Given the description of an element on the screen output the (x, y) to click on. 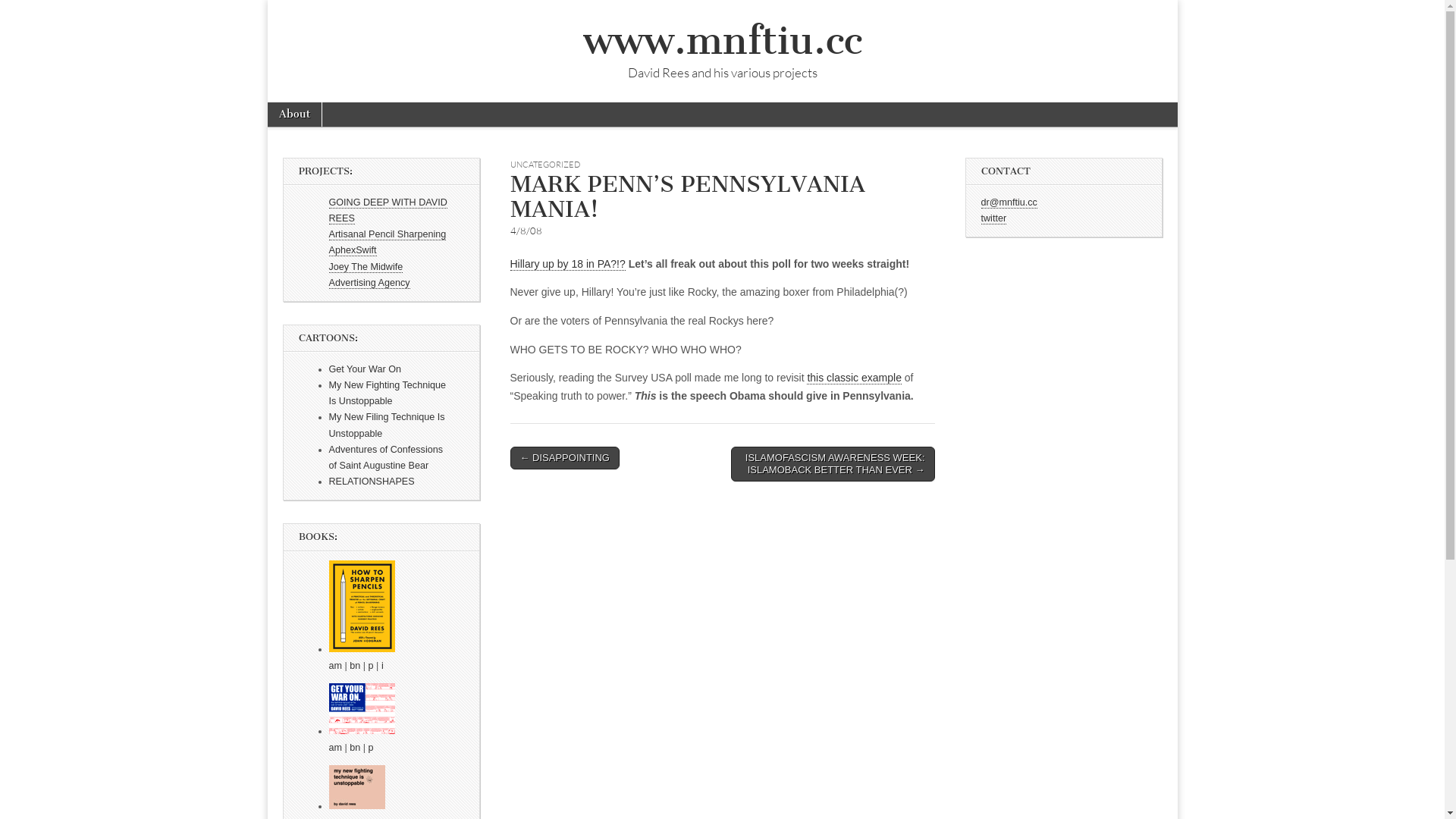
About Element type: text (293, 114)
am Element type: text (335, 747)
p Element type: text (370, 747)
Get Your War On Element type: text (365, 369)
Skip to content Element type: text (305, 110)
p Element type: text (370, 665)
UNCATEGORIZED Element type: text (544, 164)
Joey The Midwife Advertising Agency Element type: text (369, 274)
bn Element type: text (354, 665)
AphexSwift Element type: text (352, 250)
RELATIONSHAPES Element type: text (371, 481)
My New Filing Technique Is Unstoppable Element type: text (387, 424)
Artisanal Pencil Sharpening Element type: text (387, 234)
am Element type: text (335, 665)
www.mnftiu.cc Element type: text (721, 40)
My New Fighting Technique Is Unstoppable Element type: text (387, 392)
dr@mnftiu.cc Element type: text (1009, 202)
Adventures of Confessions of Saint Augustine Bear Element type: text (386, 457)
twitter Element type: text (994, 218)
GOING DEEP WITH DAVID REES Element type: text (388, 210)
i Element type: text (382, 665)
this classic example Element type: text (853, 377)
Hillary up by 18 in PA?!? Element type: text (566, 263)
bn Element type: text (354, 747)
